Given the description of an element on the screen output the (x, y) to click on. 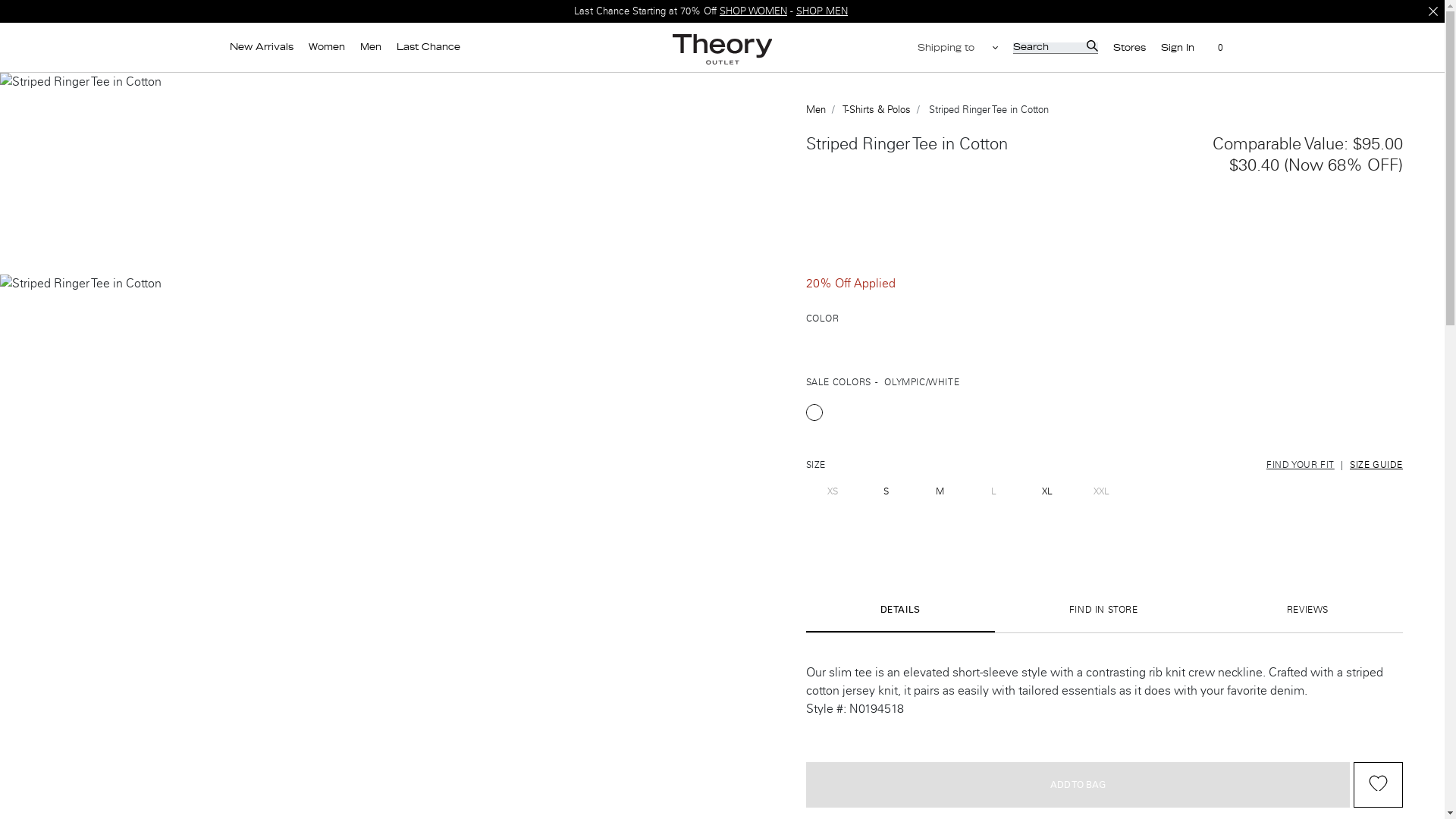
Cart 0 Items (1212, 48)
SHOP WOMEN (753, 10)
Size Guide (1376, 464)
SHOP MEN (821, 10)
Women (325, 47)
Theory Outlet Home (722, 49)
New Arrivals (260, 47)
